Given the description of an element on the screen output the (x, y) to click on. 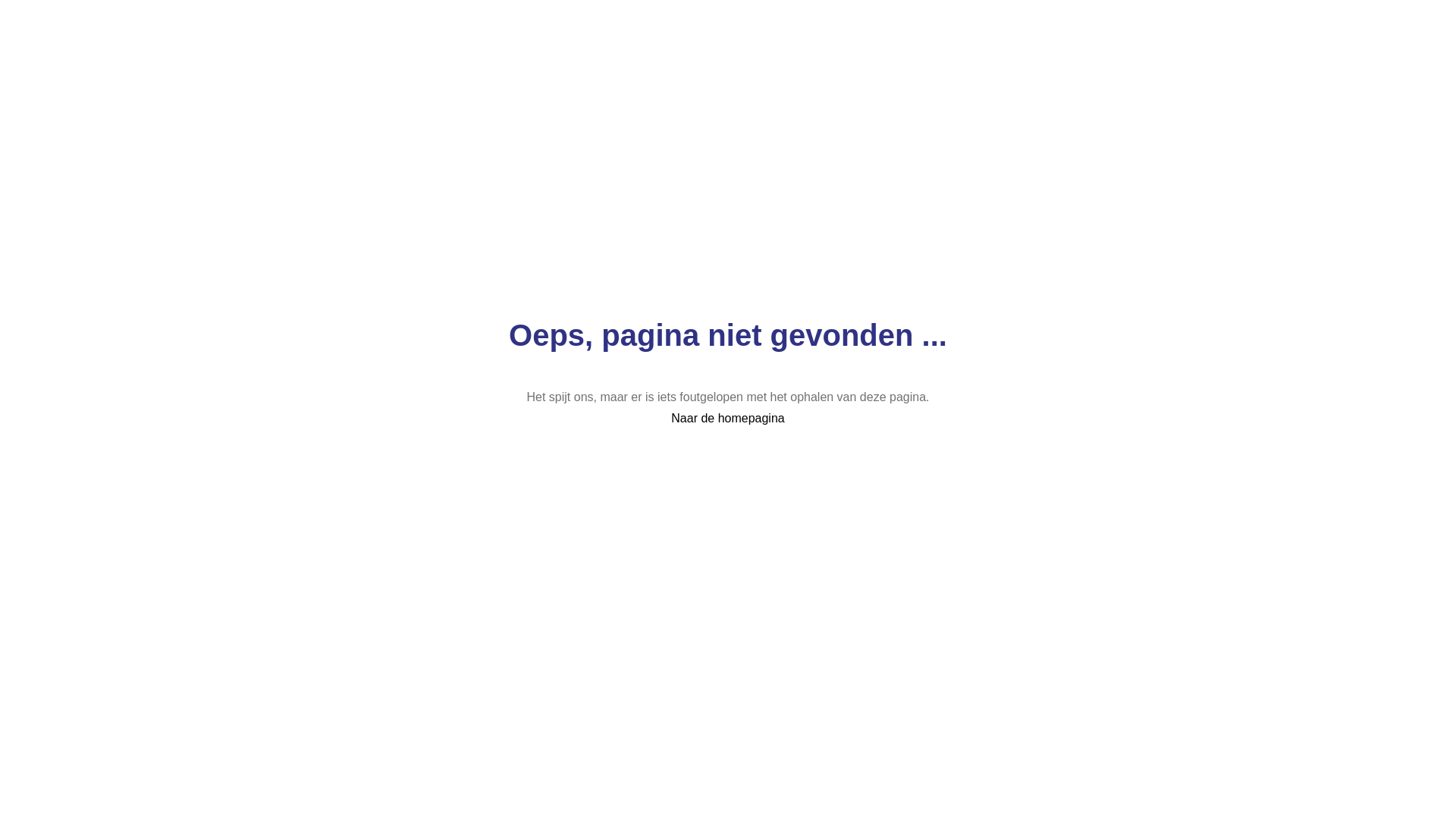
Naar de homepagina Element type: text (727, 417)
